Given the description of an element on the screen output the (x, y) to click on. 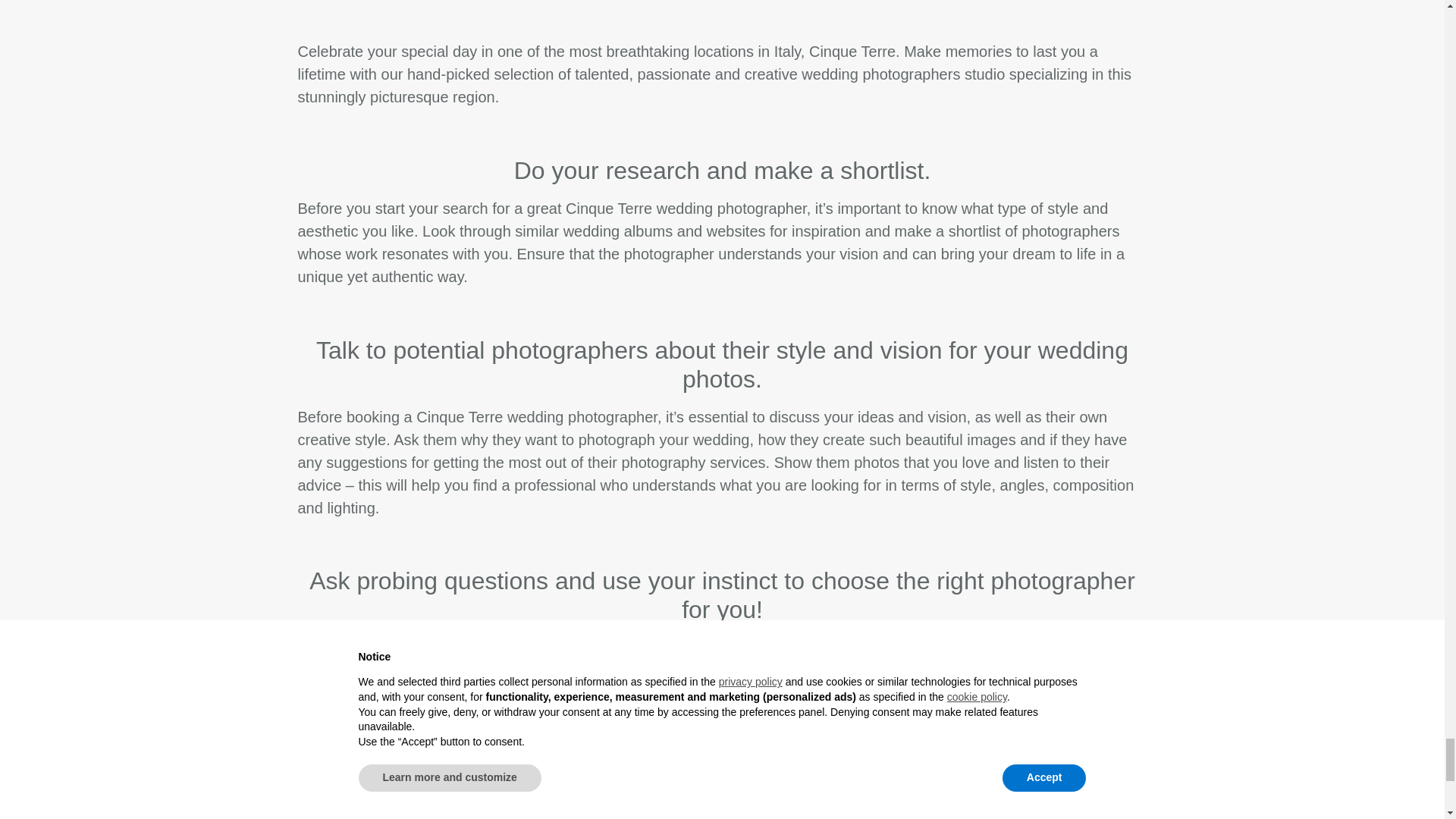
Download Packages and Prices (722, 790)
